Given the description of an element on the screen output the (x, y) to click on. 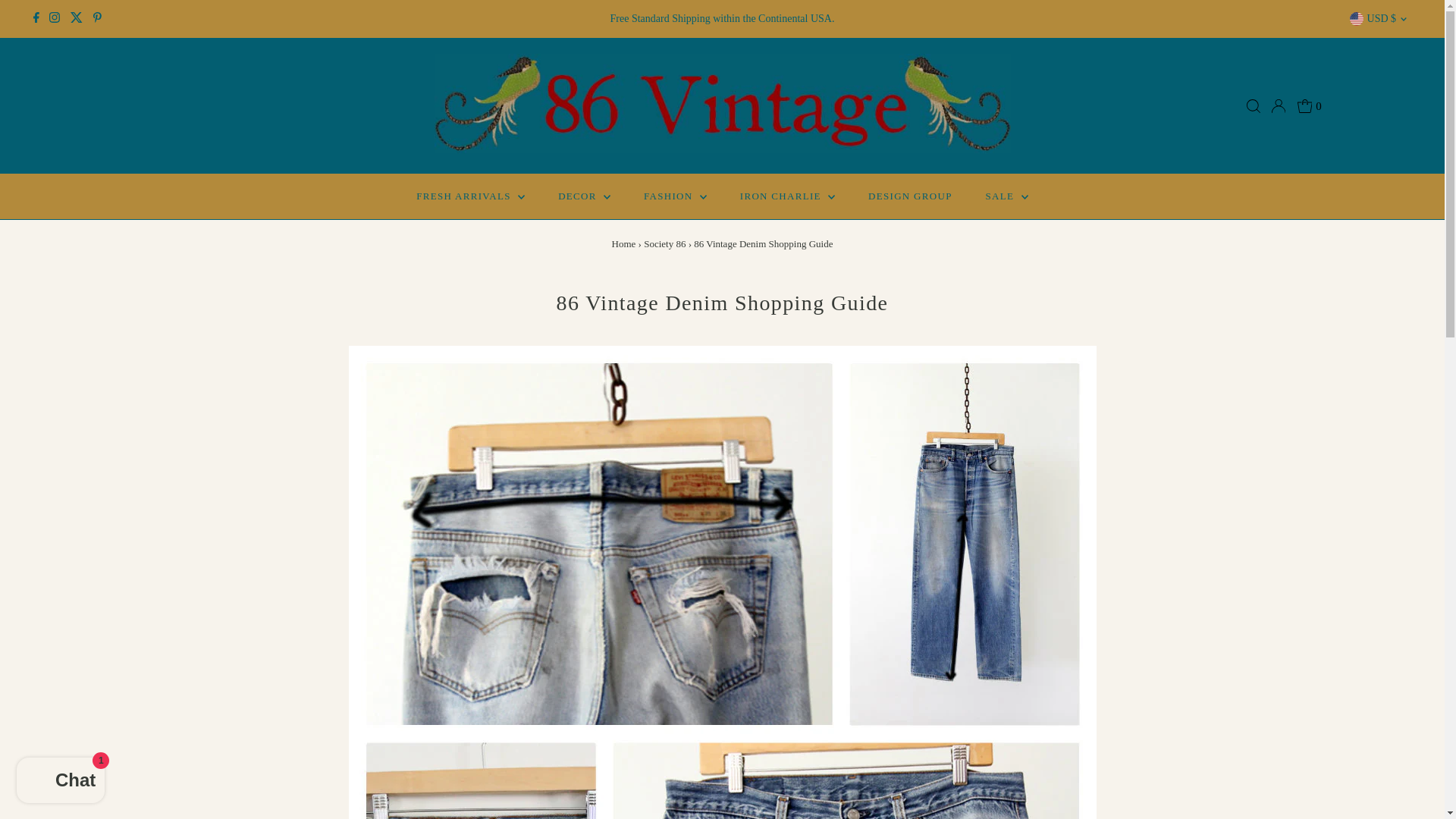
Skip to content (49, 18)
